Given the description of an element on the screen output the (x, y) to click on. 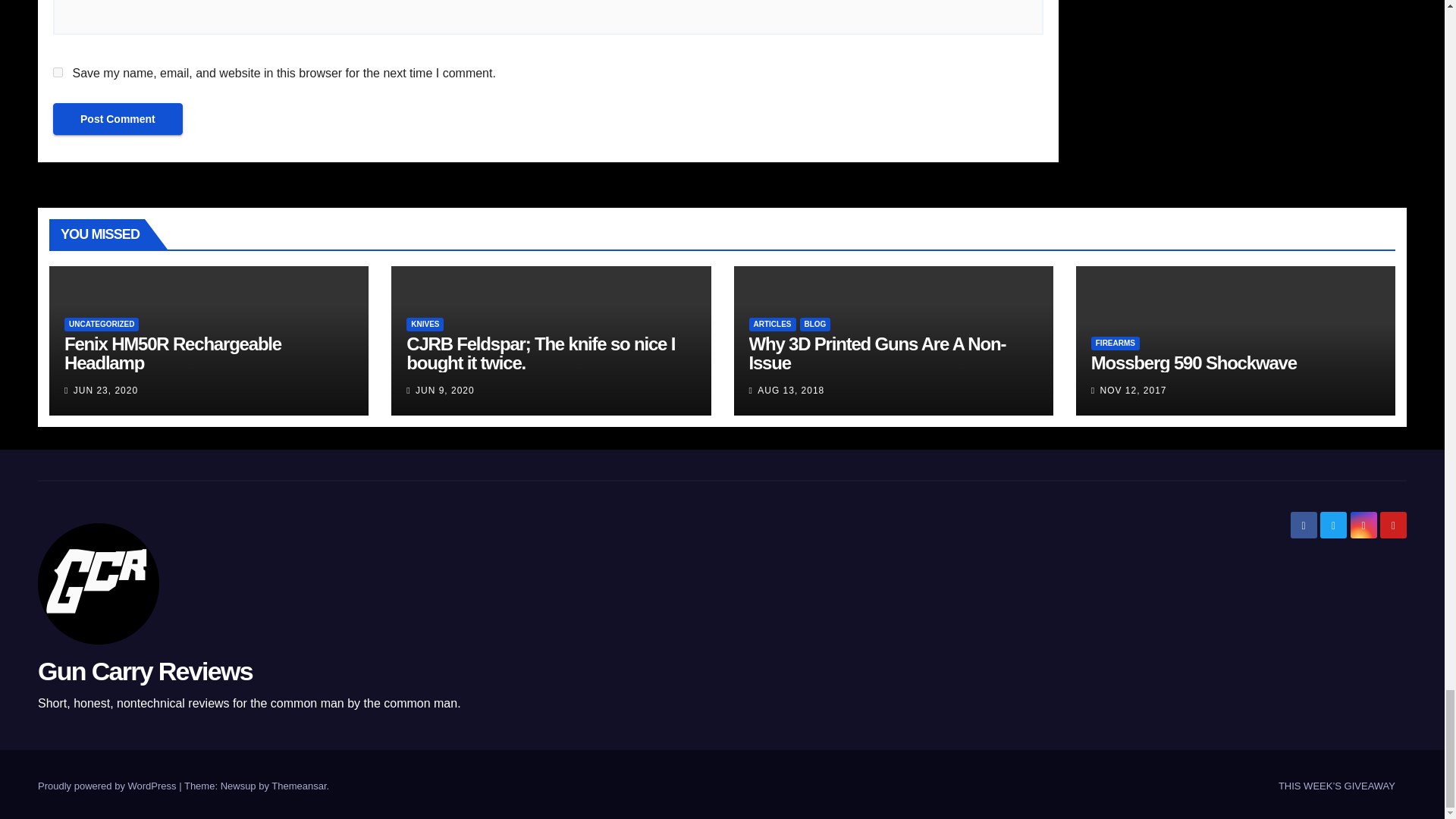
Permalink to: Why 3D Printed Guns Are A Non-Issue (877, 353)
Permalink to: Fenix HM50R Rechargeable Headlamp (172, 353)
Click here for the current entry page. (1336, 785)
Permalink to: Mossberg 590 Shockwave (1193, 362)
Post Comment (117, 119)
yes (57, 71)
